Given the description of an element on the screen output the (x, y) to click on. 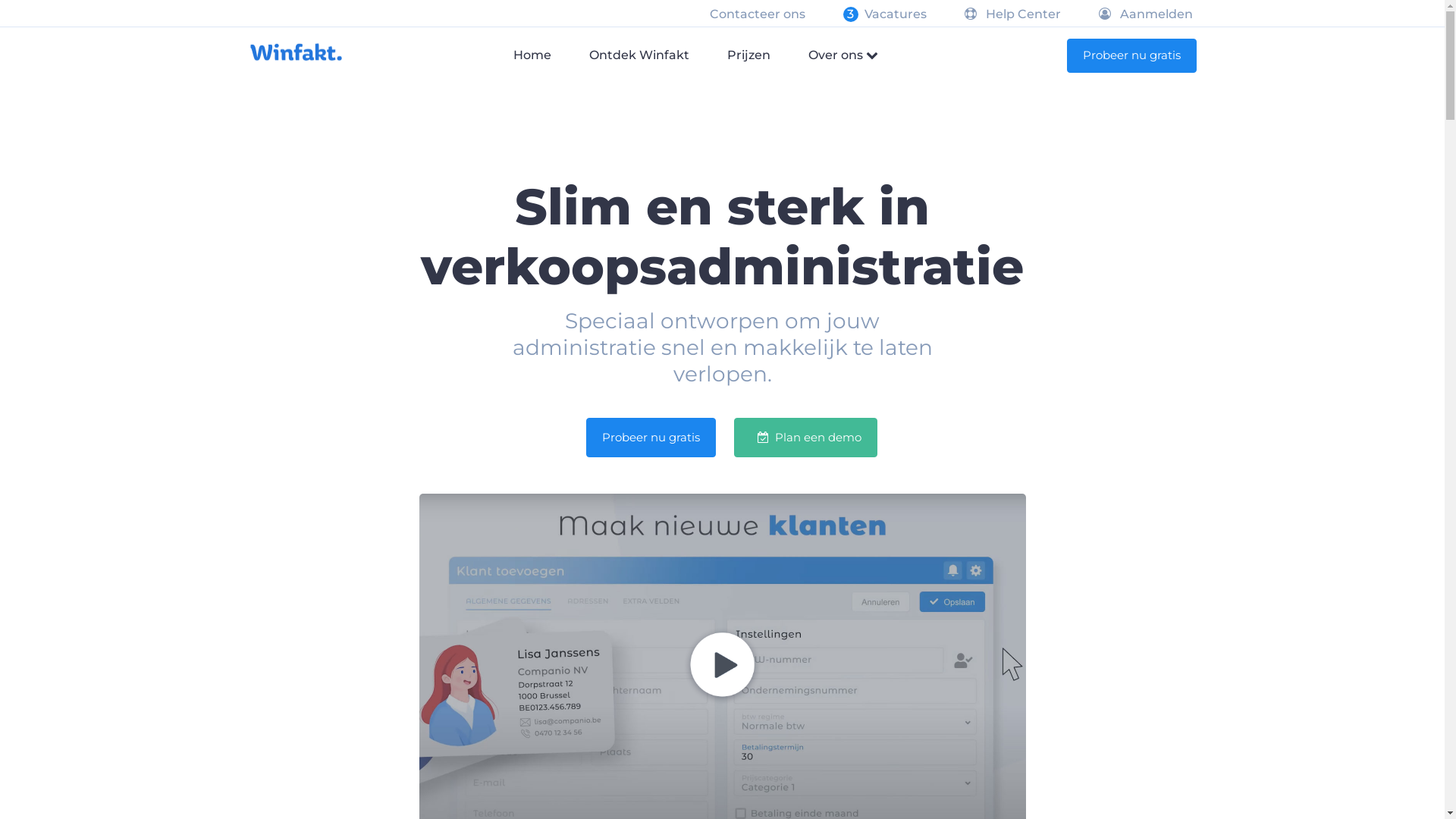
Probeer nu gratis Element type: text (650, 437)
Probeer nu gratis Element type: text (1130, 55)
Winfakt logo Element type: hover (295, 51)
Vacatures
3 Element type: text (895, 13)
Ontdek Winfakt Element type: text (638, 54)
Prijzen Element type: text (747, 54)
Aanmelden Element type: text (1145, 13)
Help Center Element type: text (1012, 13)
Plan een demo Element type: text (805, 437)
Contacteer ons Element type: text (757, 13)
Winfakt home Element type: hover (295, 50)
Over ons Element type: text (843, 54)
Home Element type: text (531, 54)
